Given the description of an element on the screen output the (x, y) to click on. 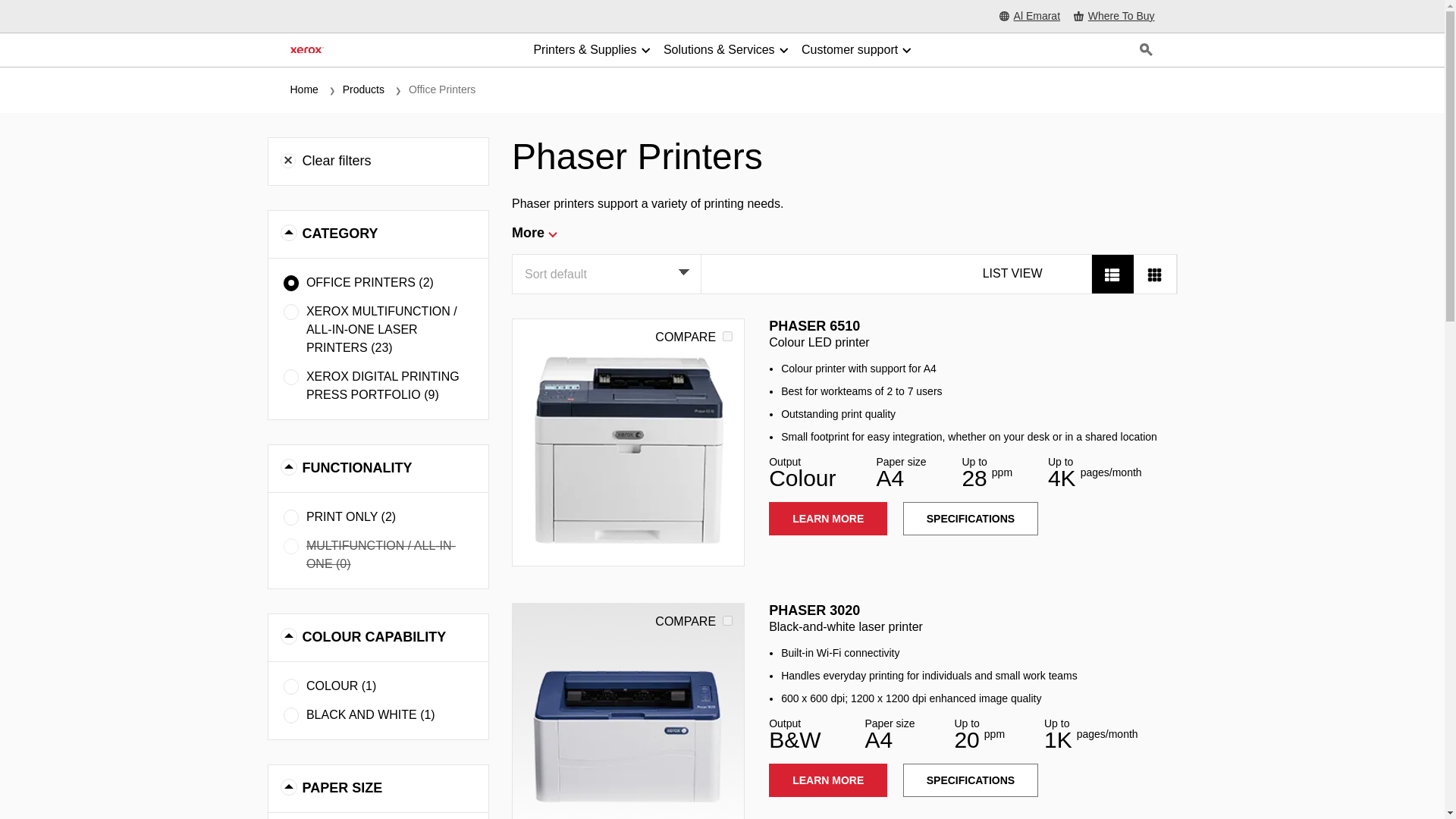
Learn more (628, 710)
Sort by (605, 273)
3020 (727, 620)
Learn more (628, 442)
List view (1111, 273)
Where To Buy (1114, 16)
Grid view (1153, 273)
6510 (727, 336)
Al Emarat (1028, 16)
